Given the description of an element on the screen output the (x, y) to click on. 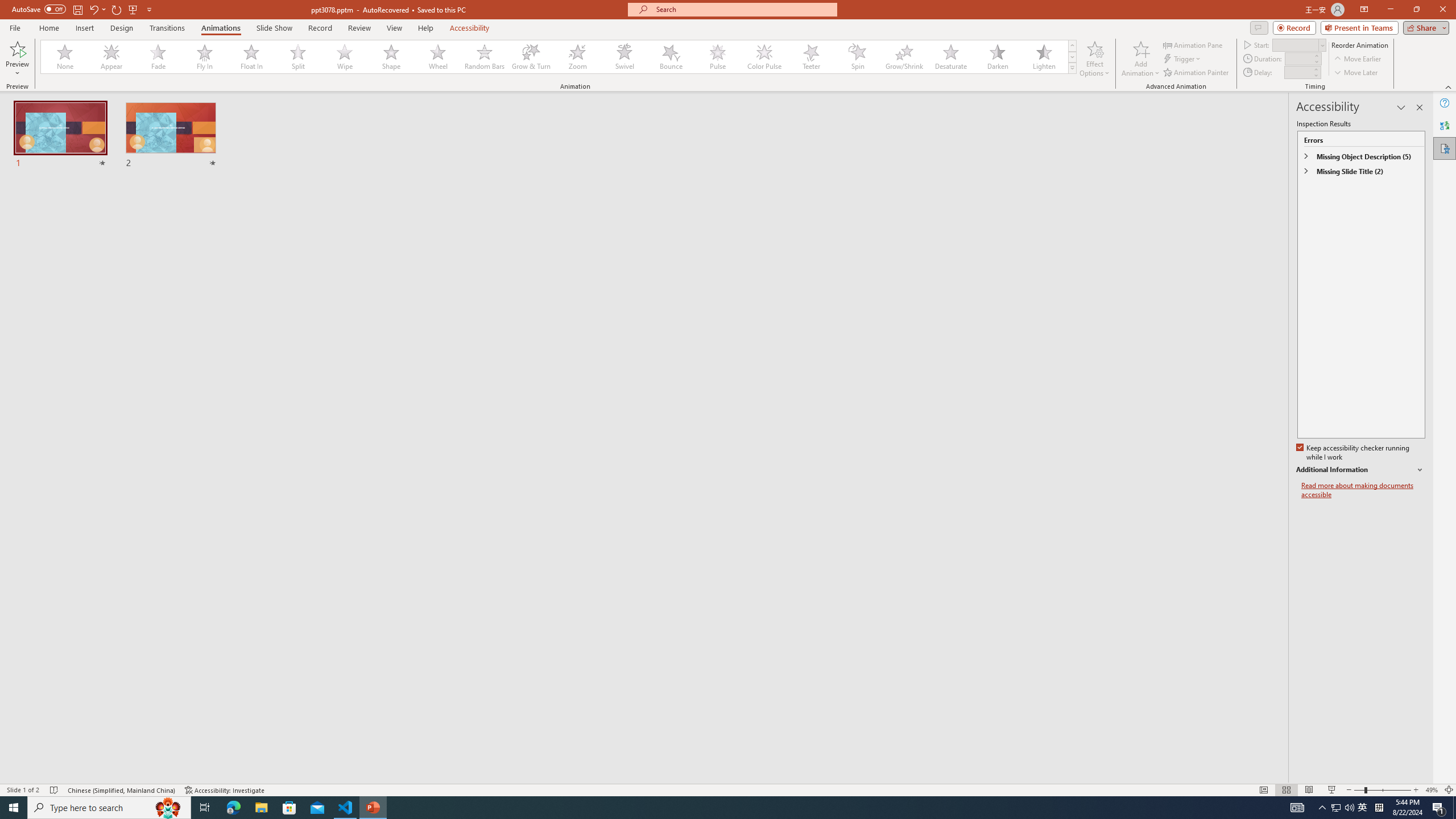
Spell Check No Errors (54, 790)
Ribbon Display Options (1364, 9)
Split (298, 56)
Lighten (1043, 56)
Zoom In (1415, 790)
Animation Painter (1196, 72)
Record (320, 28)
Trigger (1182, 58)
Less (1315, 75)
Comments (1259, 27)
Zoom to Fit  (1449, 790)
Swivel (624, 56)
Share (1423, 27)
